Given the description of an element on the screen output the (x, y) to click on. 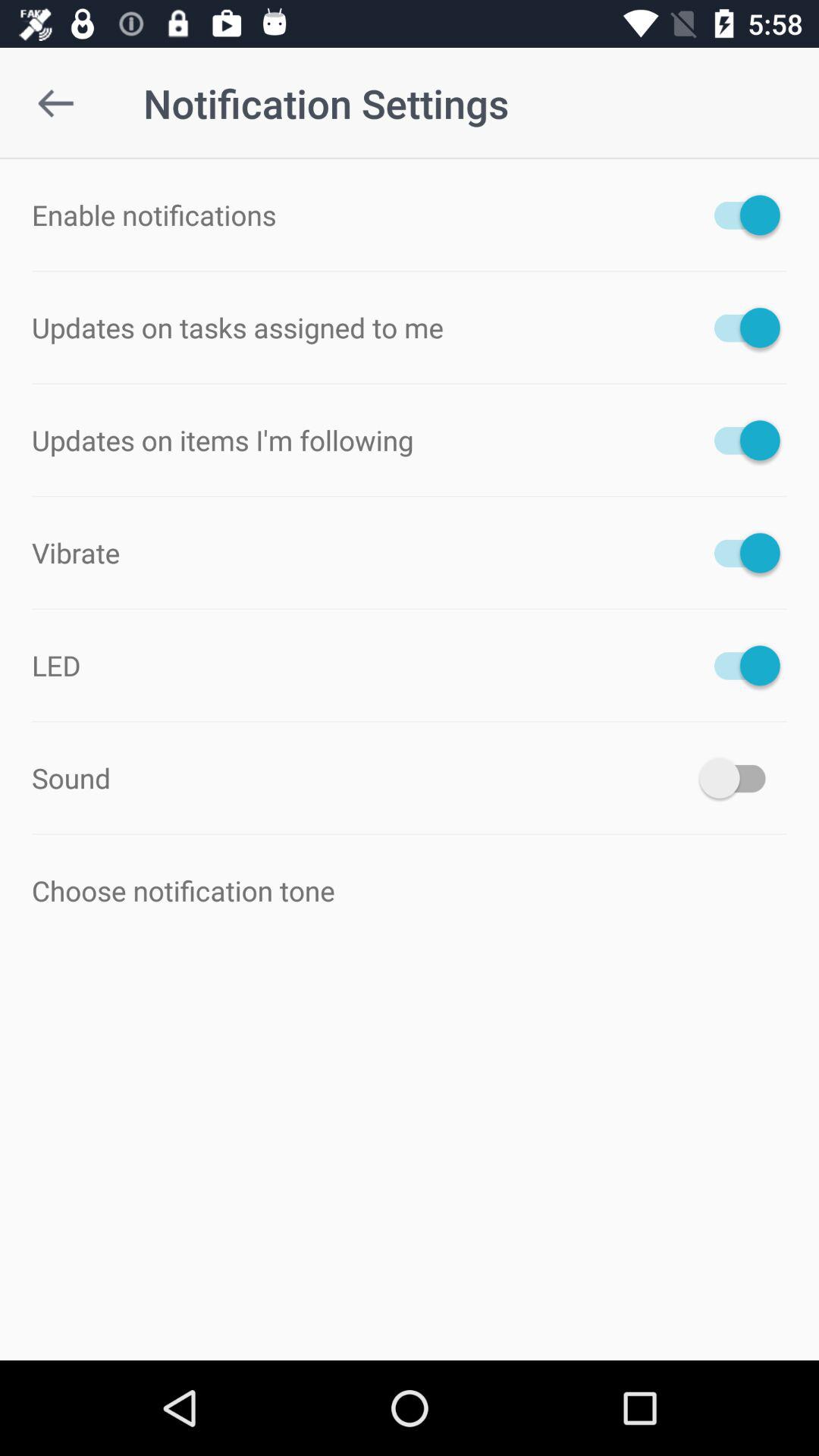
go to enable notifications (739, 214)
